Given the description of an element on the screen output the (x, y) to click on. 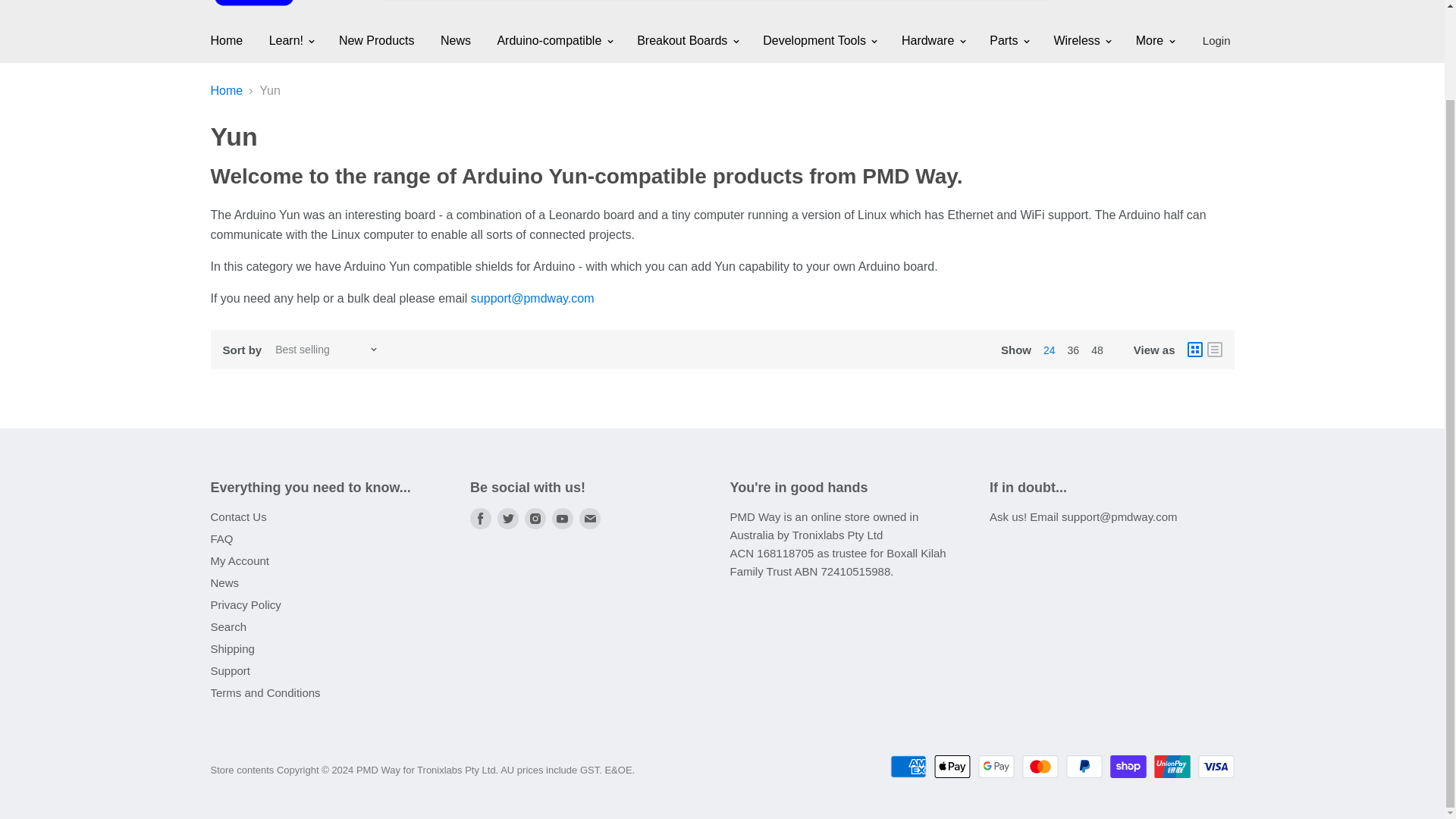
Home (225, 40)
Learn! (290, 40)
News (455, 40)
Youtube (562, 518)
New Products (376, 40)
Twitter (508, 518)
Arduino-compatible (552, 40)
Facebook (481, 518)
Instagram (534, 518)
E-mail (590, 518)
